Given the description of an element on the screen output the (x, y) to click on. 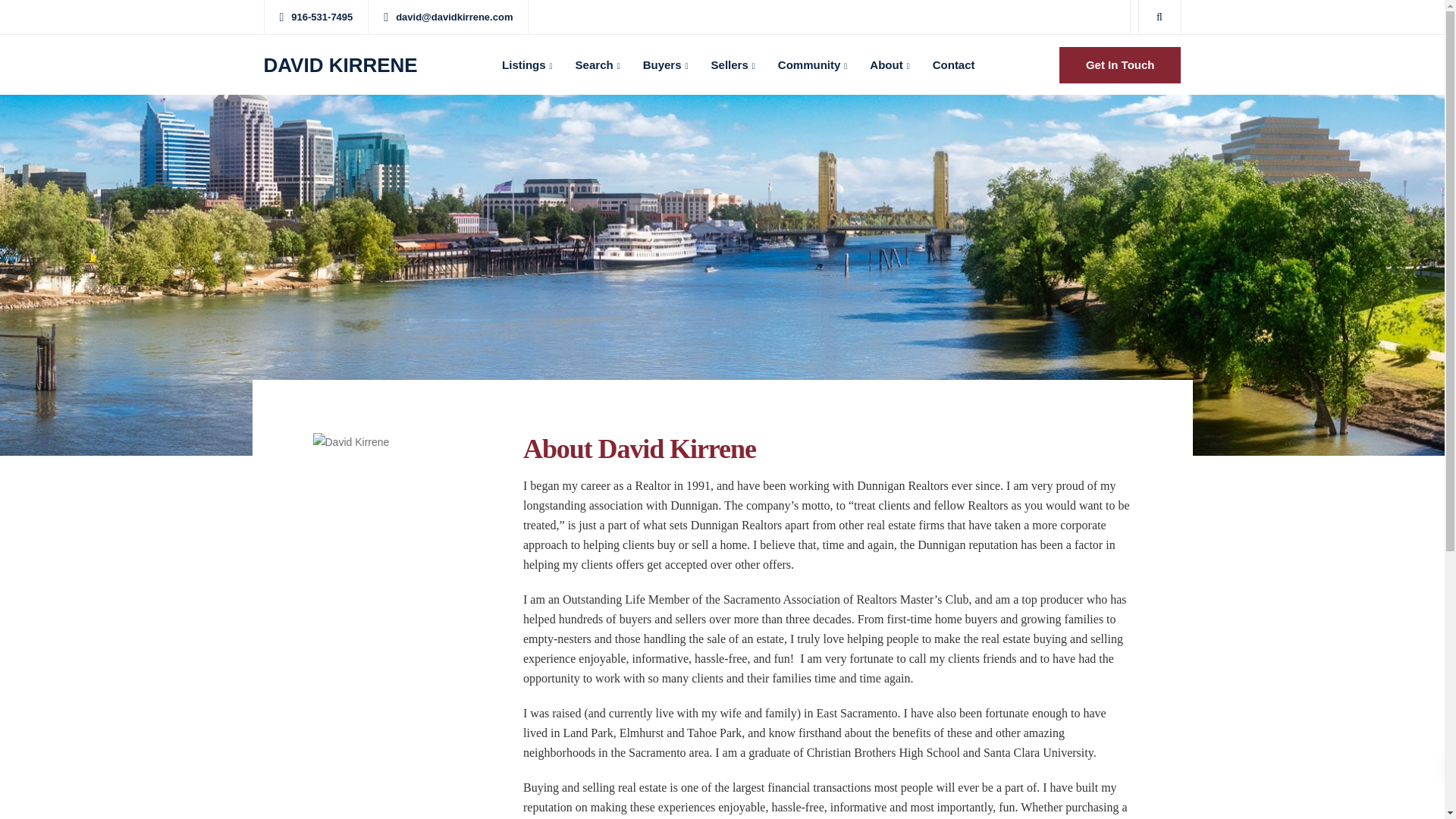
SELLERS (506, 581)
Search (597, 65)
COMMUNITY (591, 581)
Sellers (733, 65)
Get In Touch (1119, 64)
DAVID KIRRENE (340, 65)
Community (813, 65)
About (889, 65)
Listings (527, 65)
Contact (954, 65)
Search (597, 65)
Sellers (733, 65)
SEARCH (362, 581)
916-531-7495 (325, 16)
Listings (527, 65)
